Given the description of an element on the screen output the (x, y) to click on. 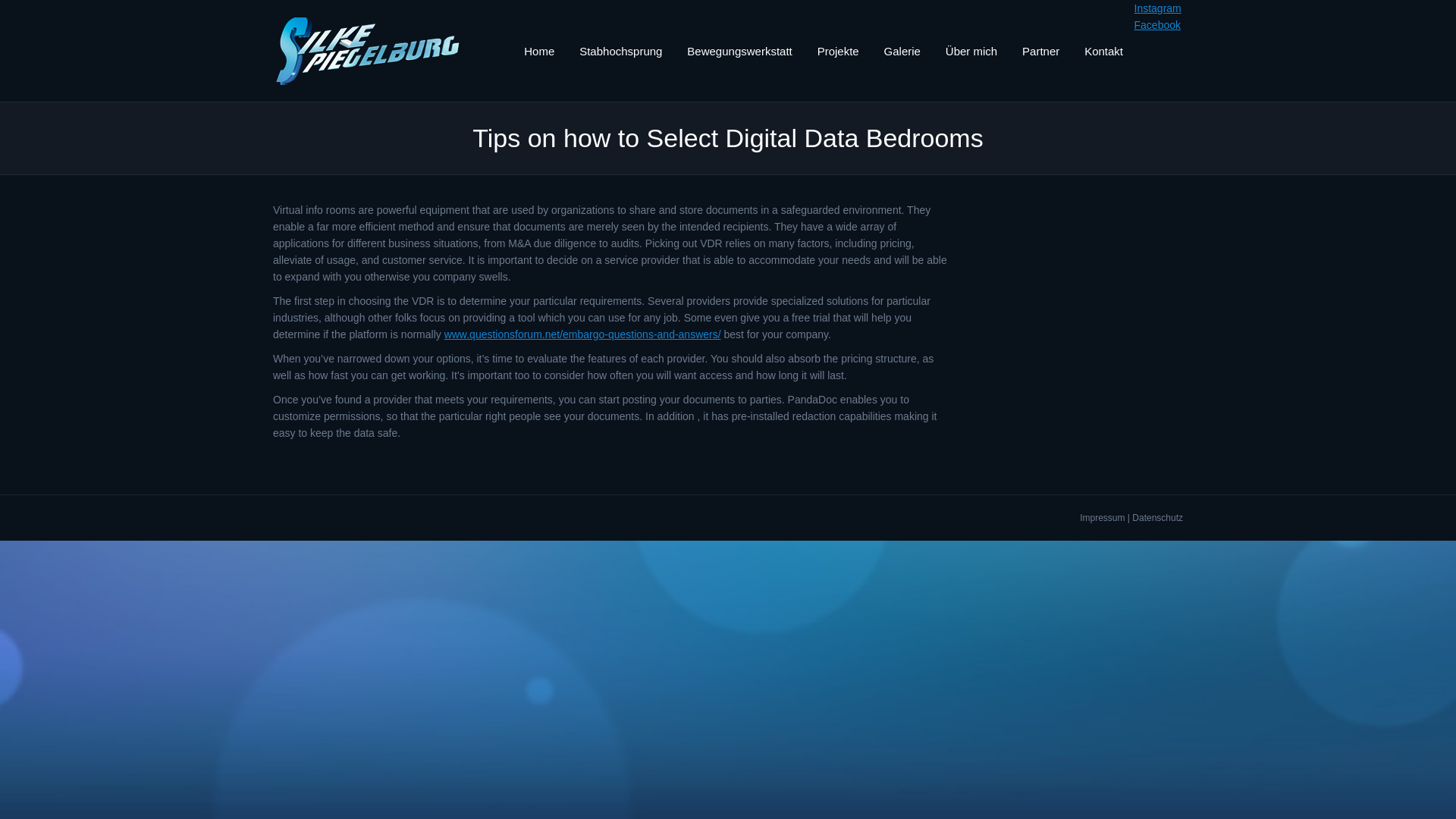
Impressum (1102, 517)
Datenschutz (1157, 517)
Bewegungswerkstatt (739, 50)
Stabhochsprung (620, 50)
Galerie (902, 50)
Home (539, 50)
Partner (1040, 50)
Projekte (837, 50)
Facebook (1157, 24)
Instagram (1157, 8)
Kontakt (1103, 50)
